Given the description of an element on the screen output the (x, y) to click on. 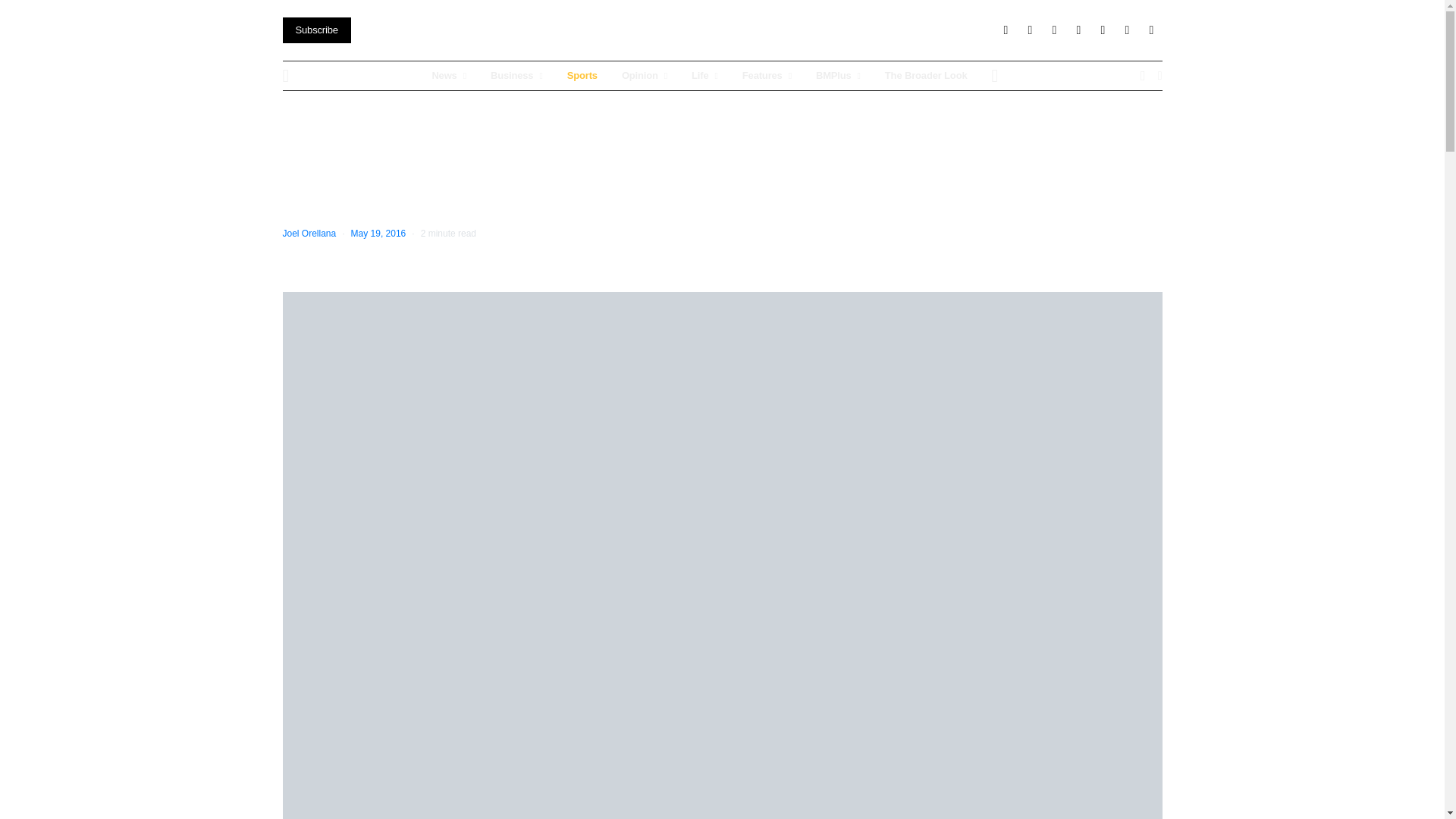
View all posts by Joel Orellana (309, 233)
